Given the description of an element on the screen output the (x, y) to click on. 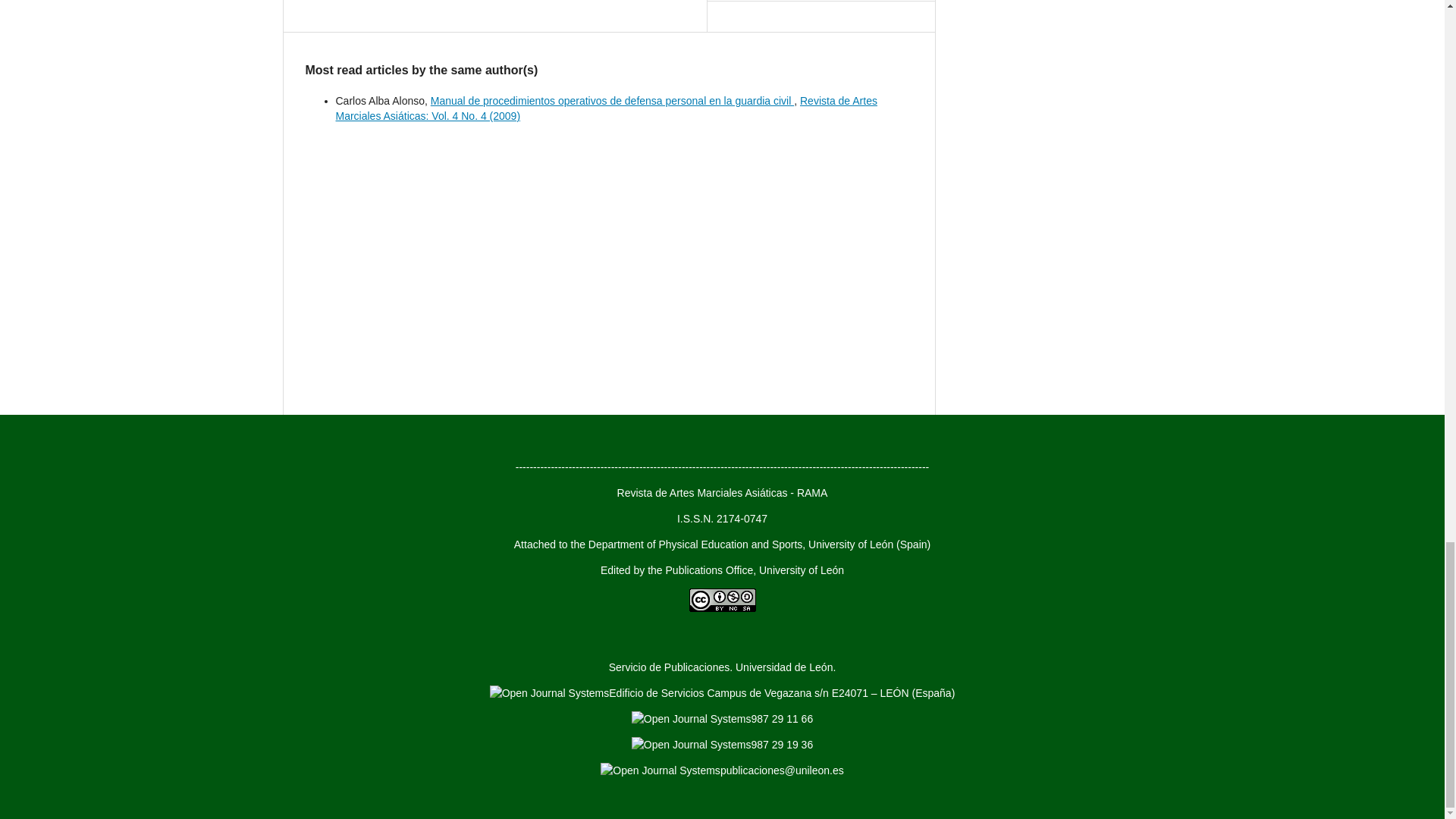
Open Journal Systems (549, 693)
Open Journal Systems (659, 770)
Open Journal Systems (691, 718)
Open Journal Systems (691, 744)
